Given the description of an element on the screen output the (x, y) to click on. 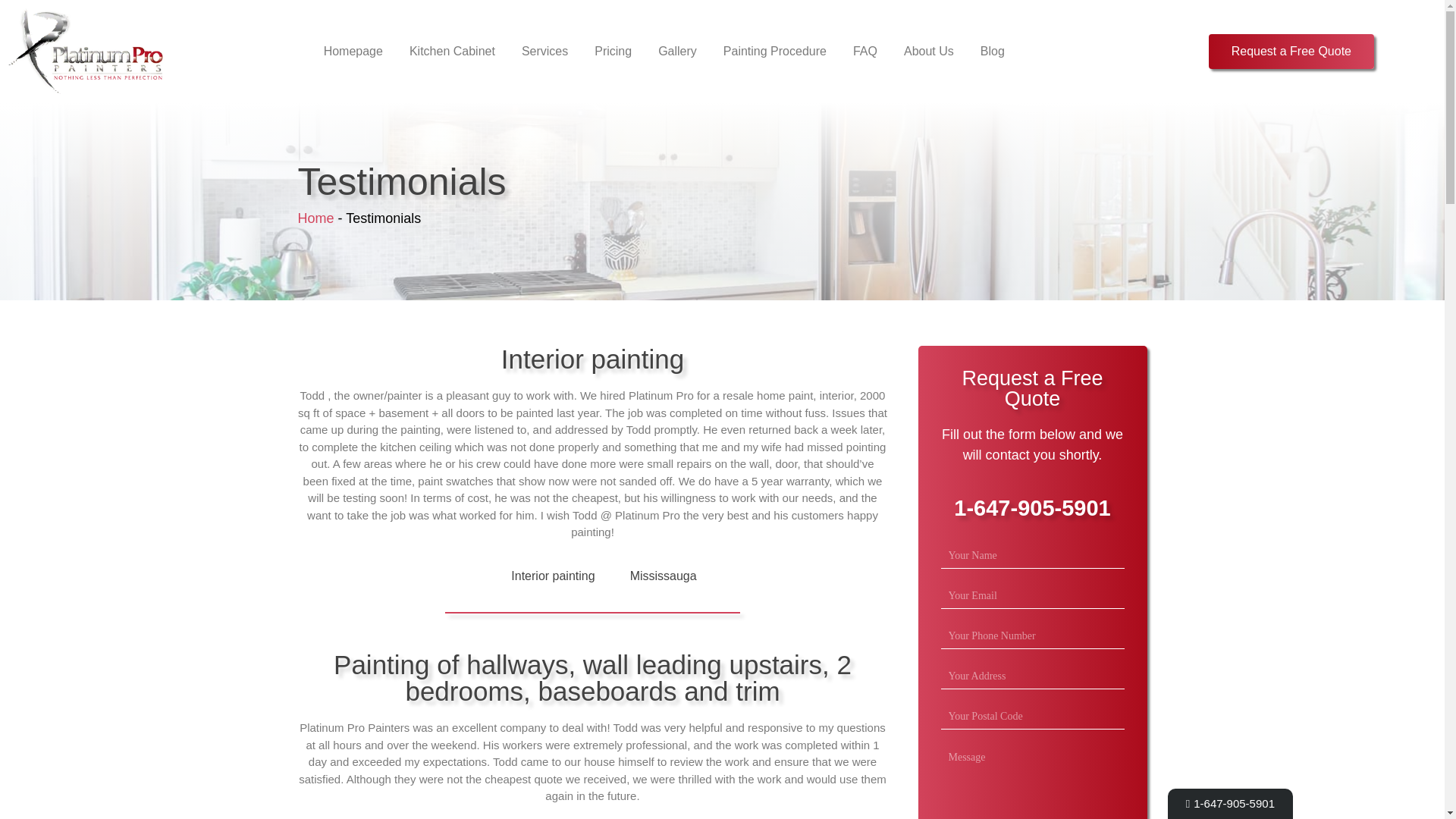
About Us (928, 51)
Gallery (677, 51)
Services (544, 51)
Painting Procedure (775, 51)
Homepage (352, 51)
Pricing (612, 51)
Kitchen Cabinet (452, 51)
